Given the description of an element on the screen output the (x, y) to click on. 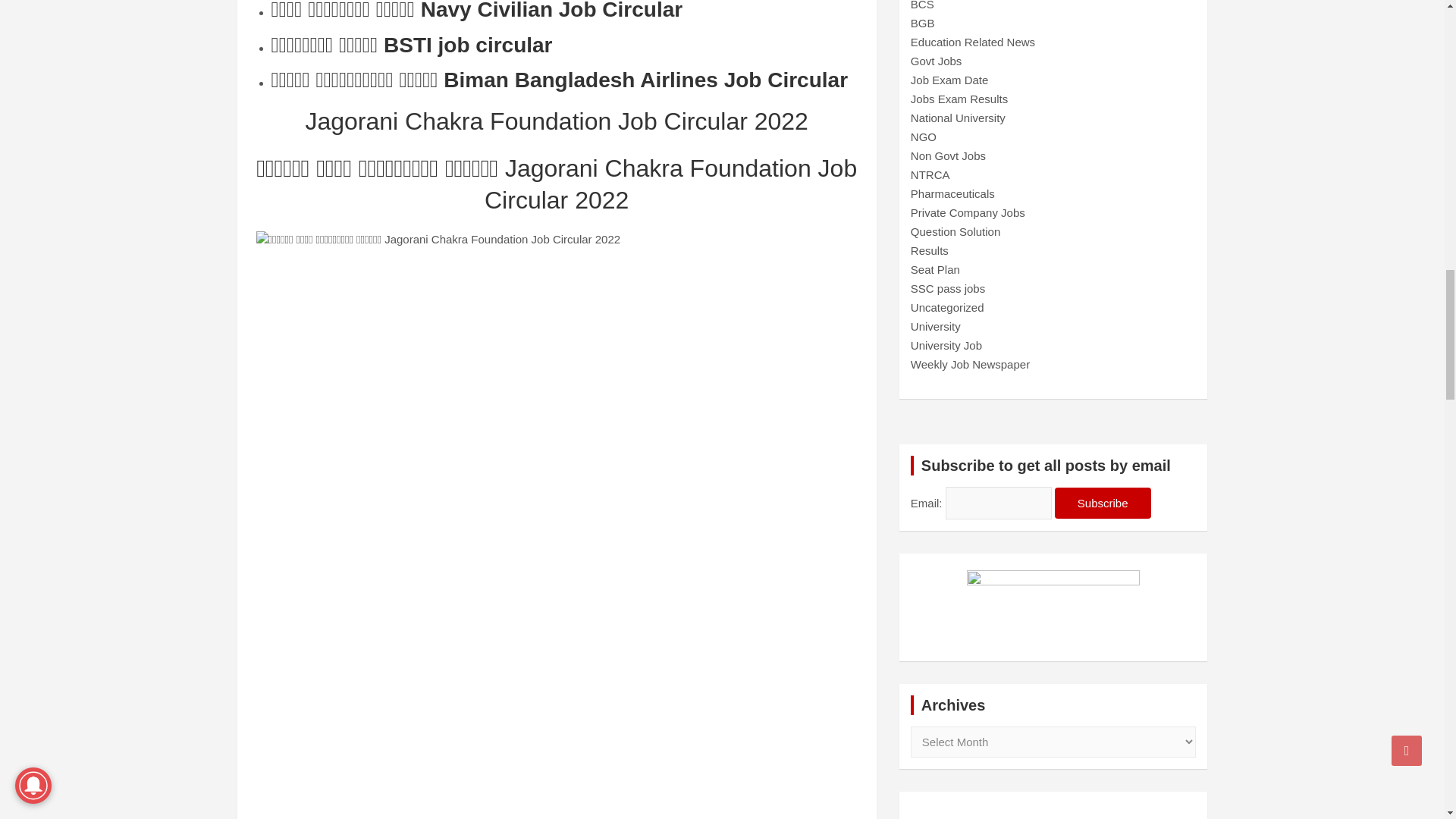
Subscribe (1102, 502)
